Given the description of an element on the screen output the (x, y) to click on. 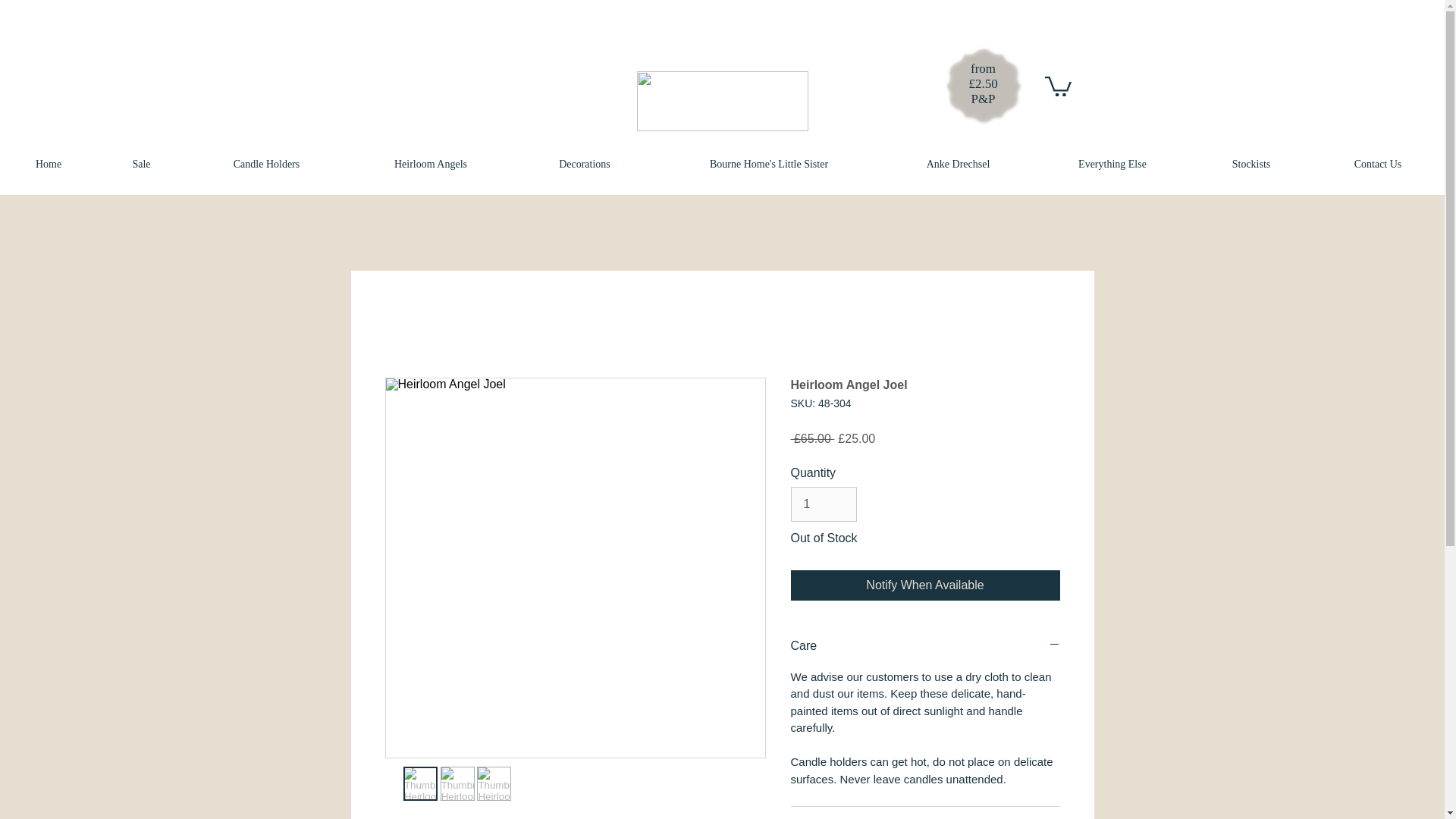
Candle Holders (266, 164)
Stockists (1251, 164)
Everything Else (1112, 164)
Anke Drechsel (957, 164)
Home (48, 164)
Care (924, 646)
1 (823, 503)
Notify When Available (924, 585)
Sale (141, 164)
Decorations (584, 164)
Bourne Home's Little Sister (768, 164)
Heirloom Angels (430, 164)
